Given the description of an element on the screen output the (x, y) to click on. 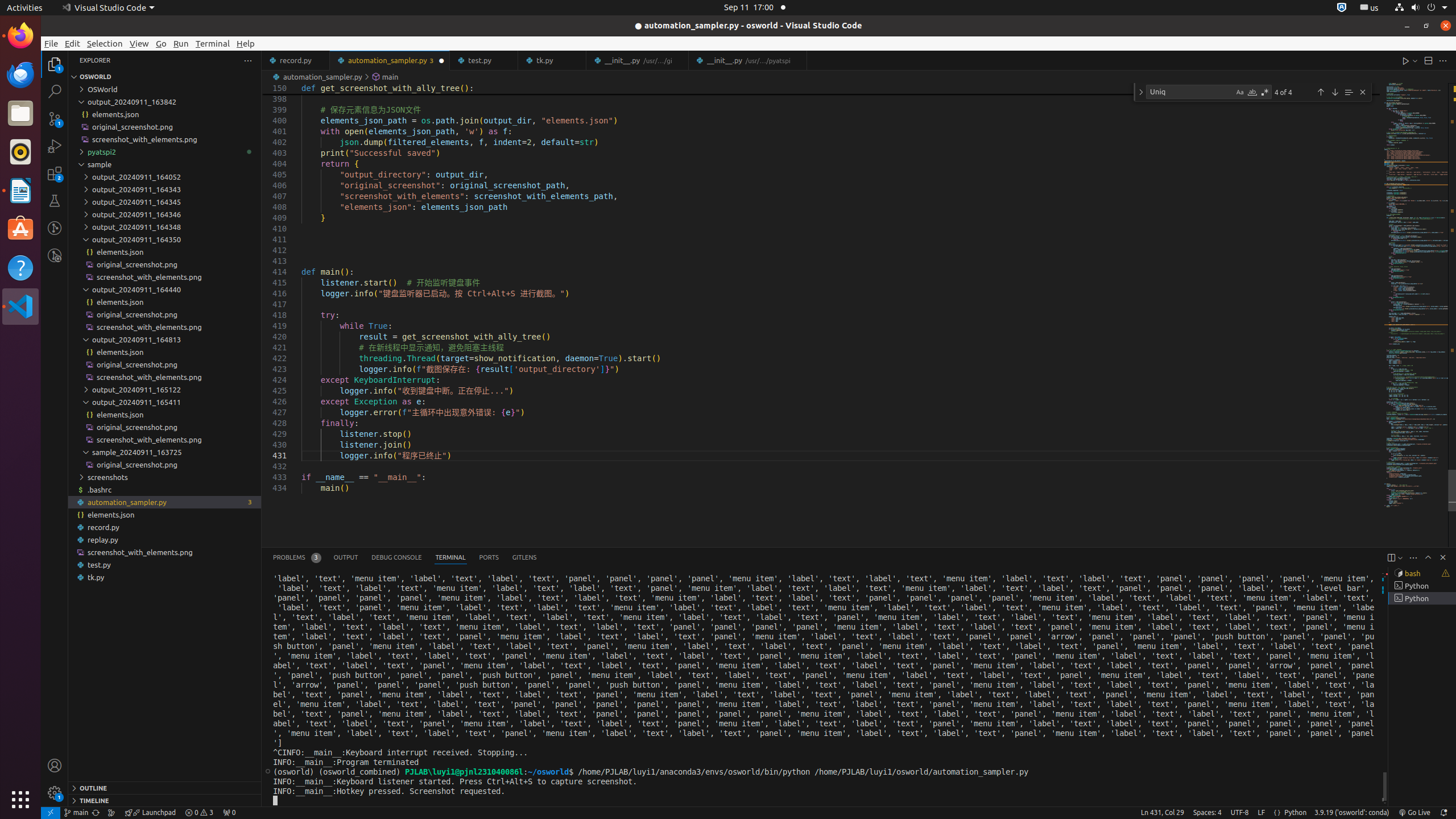
Testing Element type: page-tab (54, 200)
Search (Ctrl+Shift+F) Element type: page-tab (54, 91)
3.9.19 ('osworld': conda), ~/anaconda3/envs/osworld/bin/python Element type: push-button (1351, 812)
